Given the description of an element on the screen output the (x, y) to click on. 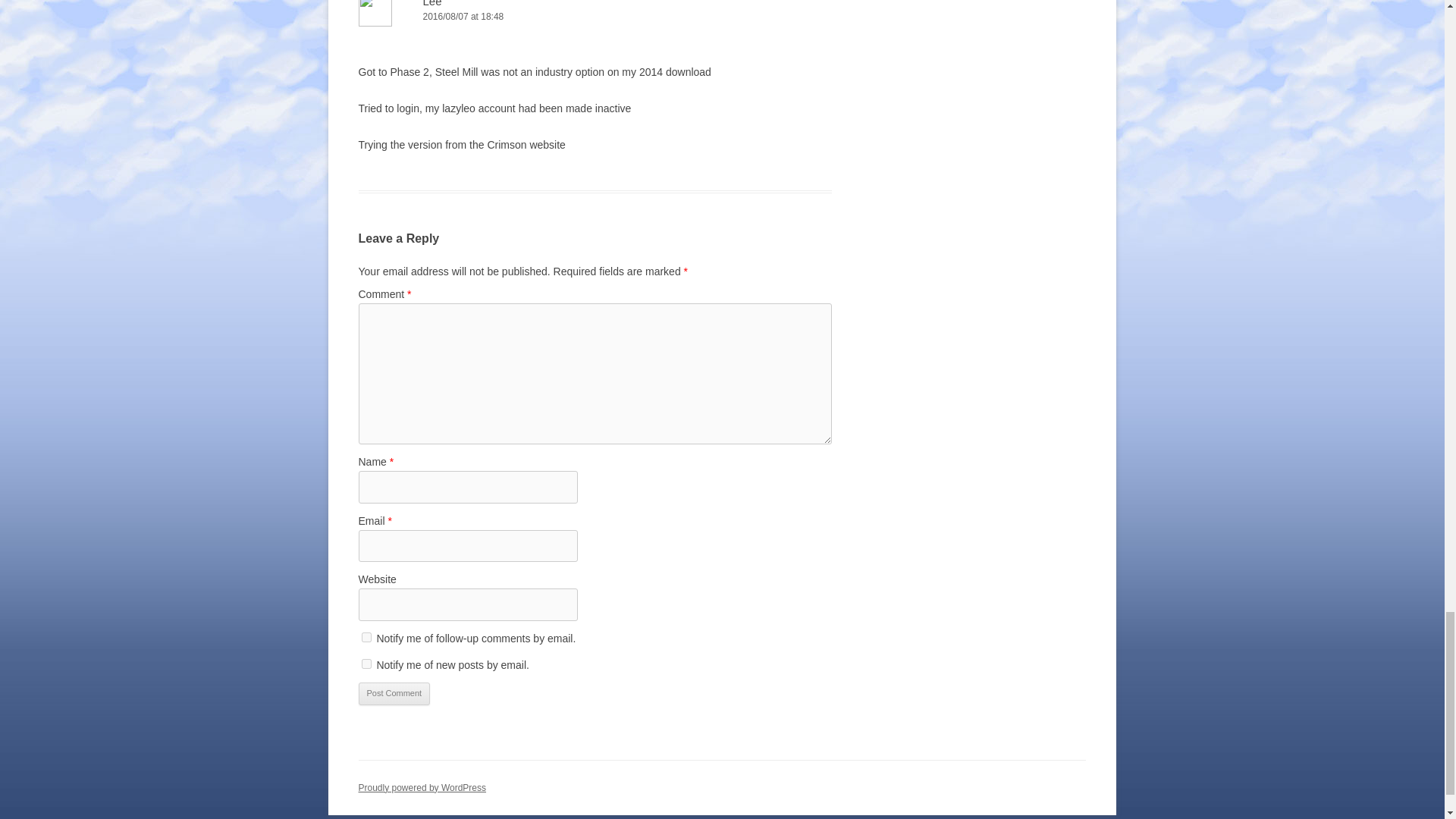
subscribe (366, 637)
Proudly powered by WordPress (422, 787)
subscribe (366, 664)
Post Comment (393, 693)
Post Comment (393, 693)
Semantic Personal Publishing Platform (422, 787)
